Given the description of an element on the screen output the (x, y) to click on. 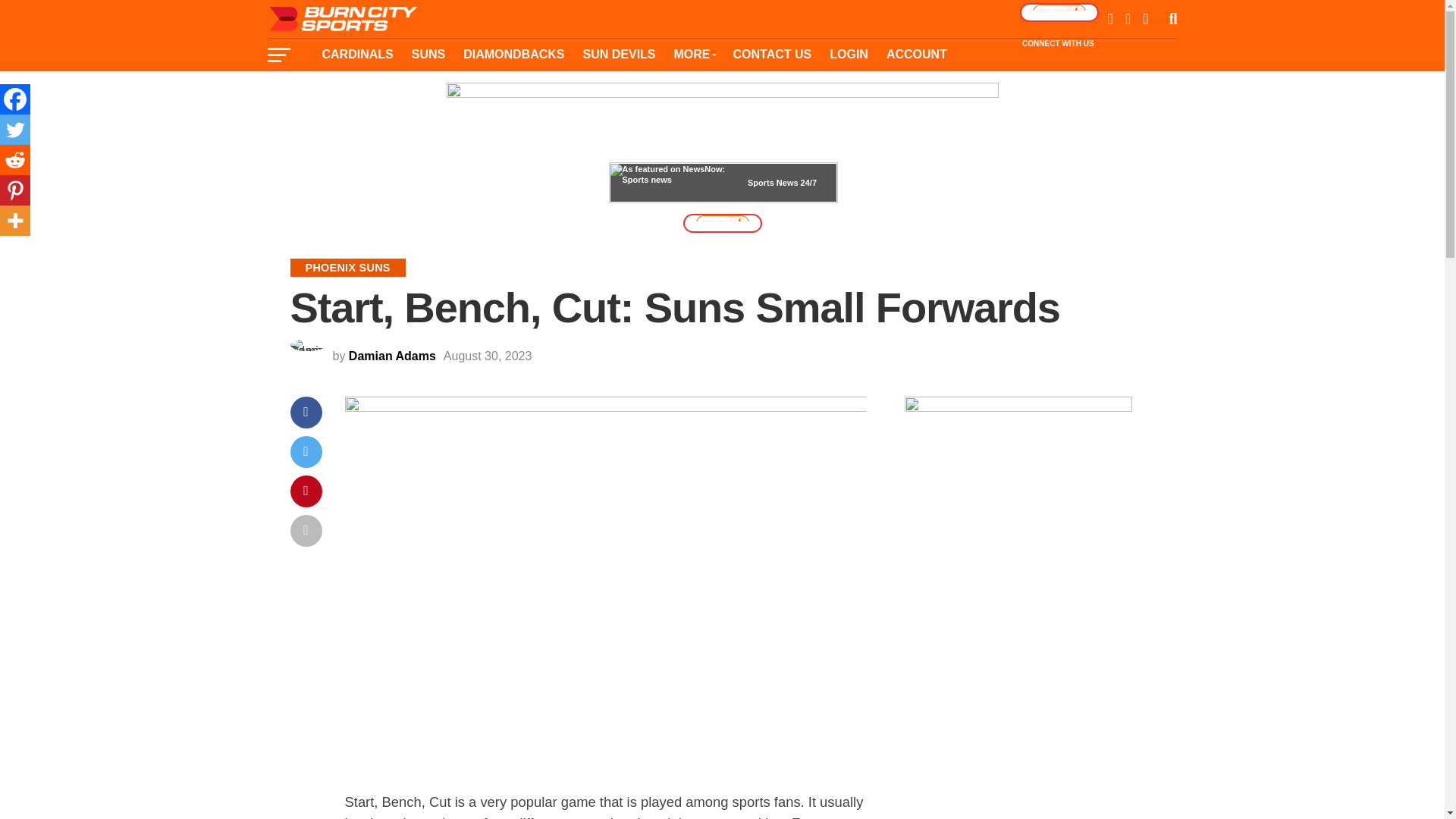
CARDINALS (357, 54)
Reddit (15, 159)
DIAMONDBACKS (513, 54)
SUN DEVILS (618, 54)
Twitter (15, 129)
Pinterest (15, 190)
SUNS (428, 54)
Facebook (15, 99)
Posts by Damian Adams (392, 355)
Click here for more Sports news from NewsNow (722, 182)
